Given the description of an element on the screen output the (x, y) to click on. 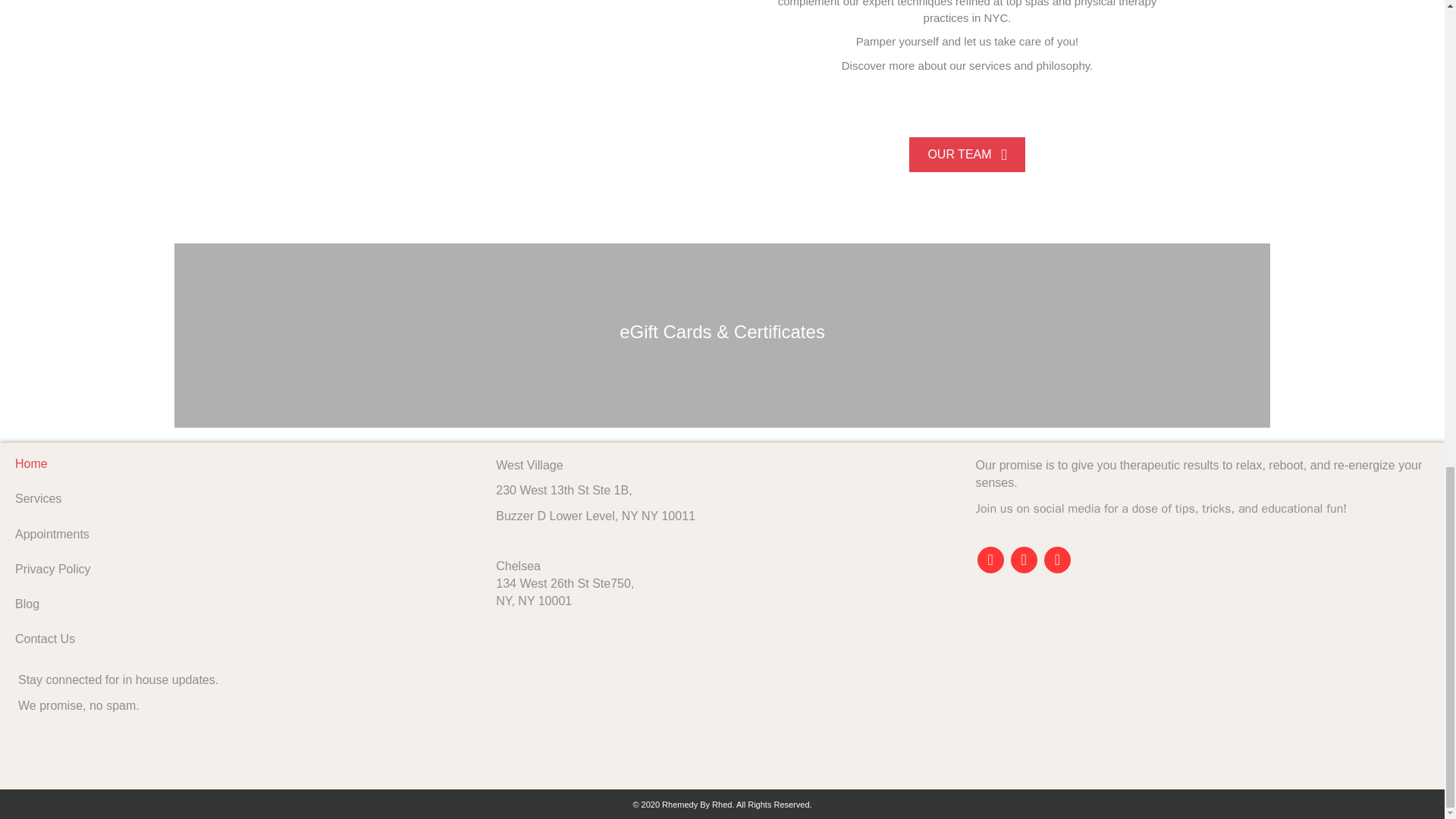
Services (243, 498)
Privacy Policy (243, 569)
Home (243, 463)
Blog (243, 603)
Appointments (243, 533)
OUR TEAM (966, 154)
Contact Us (242, 691)
